Given the description of an element on the screen output the (x, y) to click on. 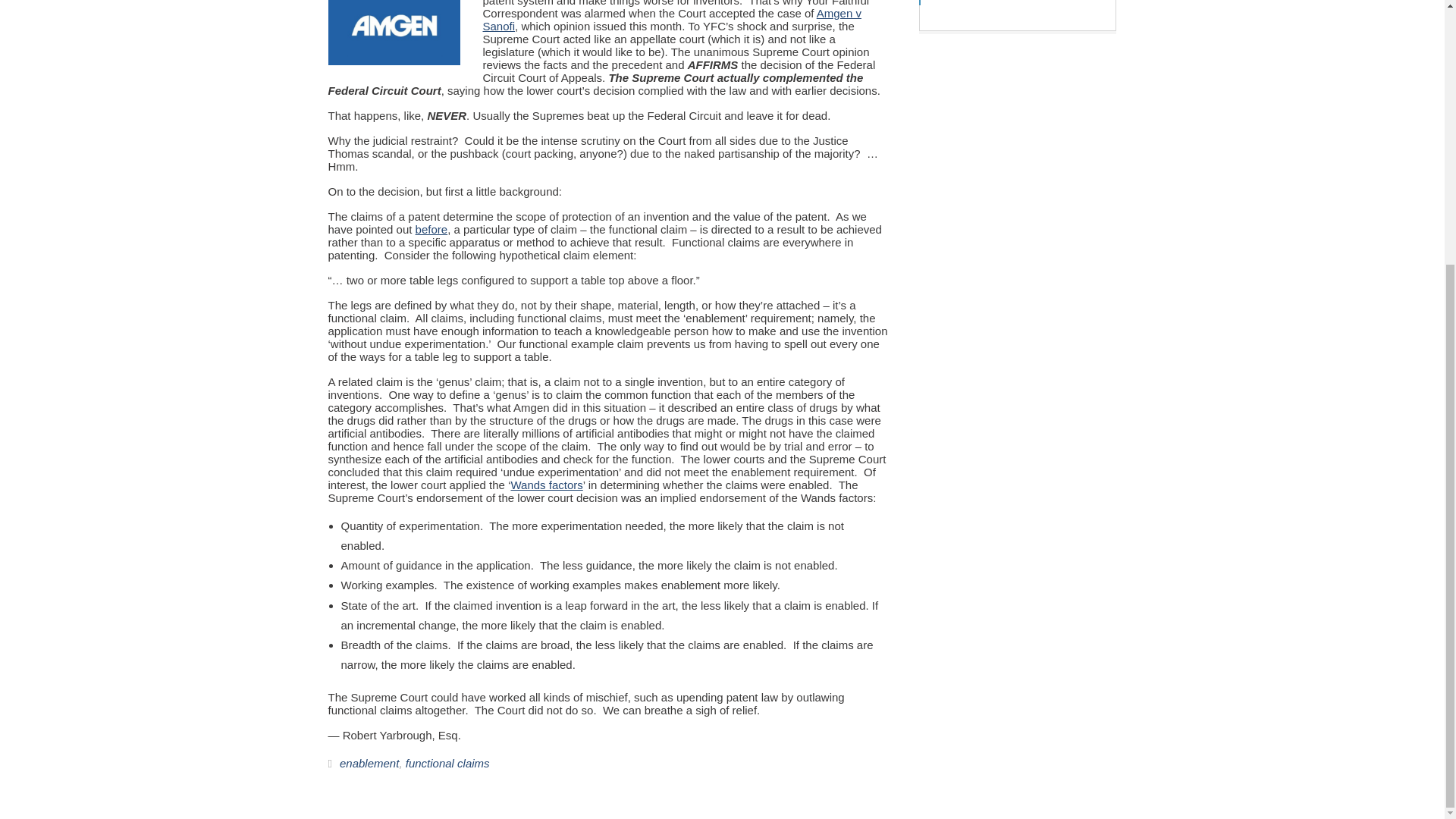
Amgen v Sanofi (670, 19)
enablement (368, 762)
before (431, 228)
functional claims (447, 762)
Wands factors (546, 484)
